Given the description of an element on the screen output the (x, y) to click on. 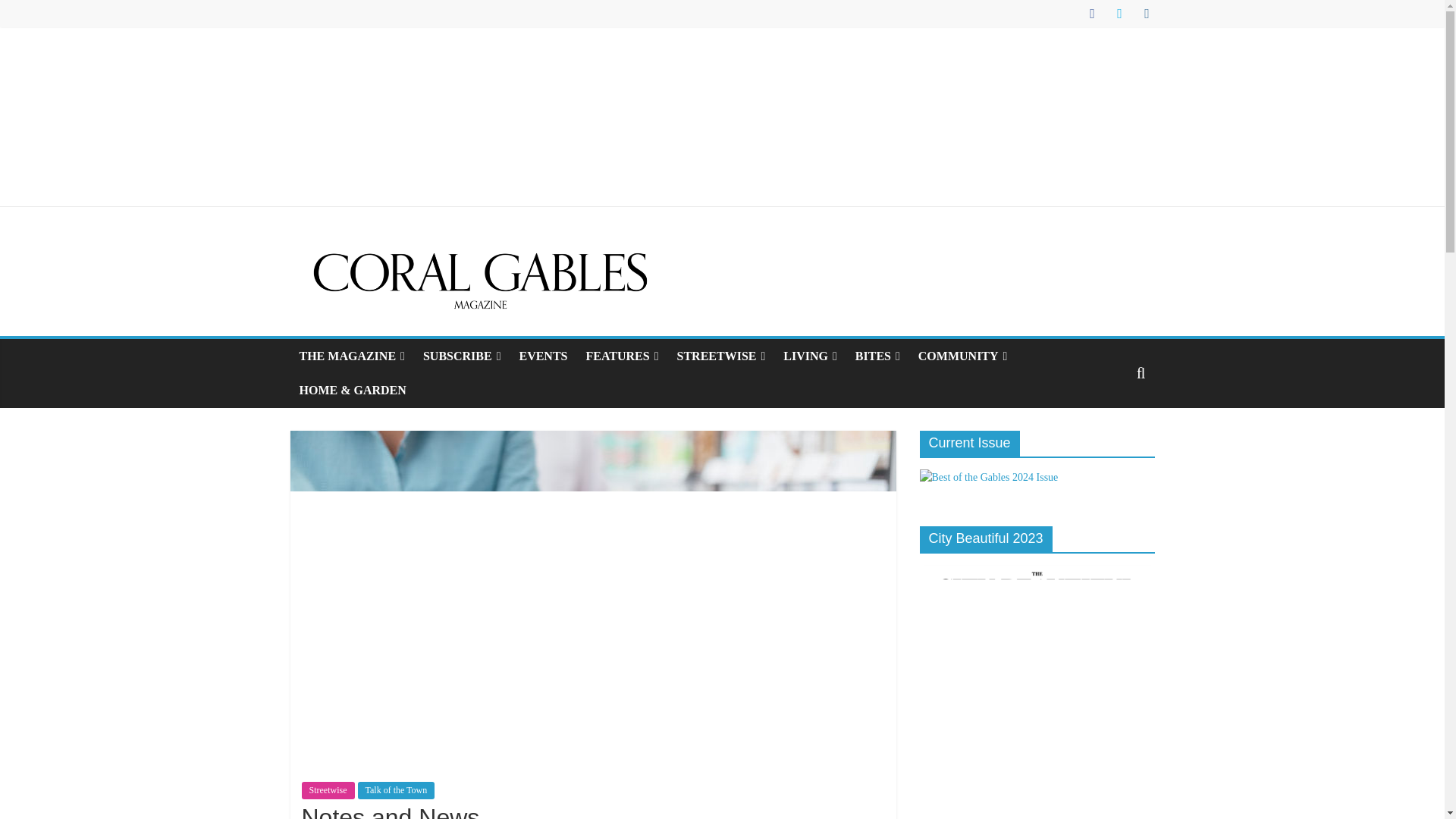
Current Issue (988, 477)
EVENTS (542, 356)
FEATURES (621, 356)
COMMUNITY (962, 356)
SUBSCRIBE (462, 356)
STREETWISE (721, 356)
LIVING (809, 356)
THE MAGAZINE (351, 356)
BITES (876, 356)
